Given the description of an element on the screen output the (x, y) to click on. 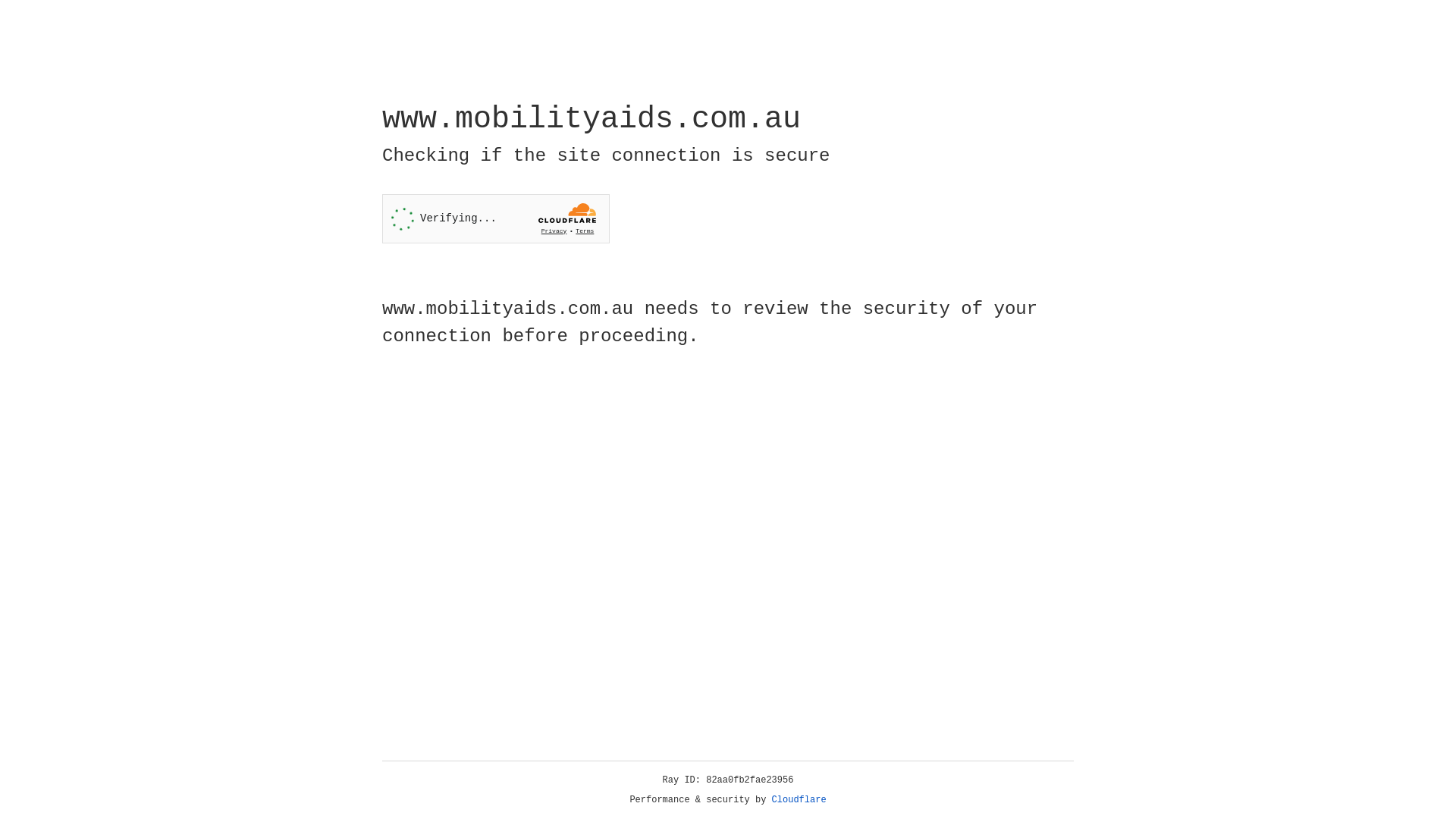
Widget containing a Cloudflare security challenge Element type: hover (495, 218)
Cloudflare Element type: text (798, 799)
